Given the description of an element on the screen output the (x, y) to click on. 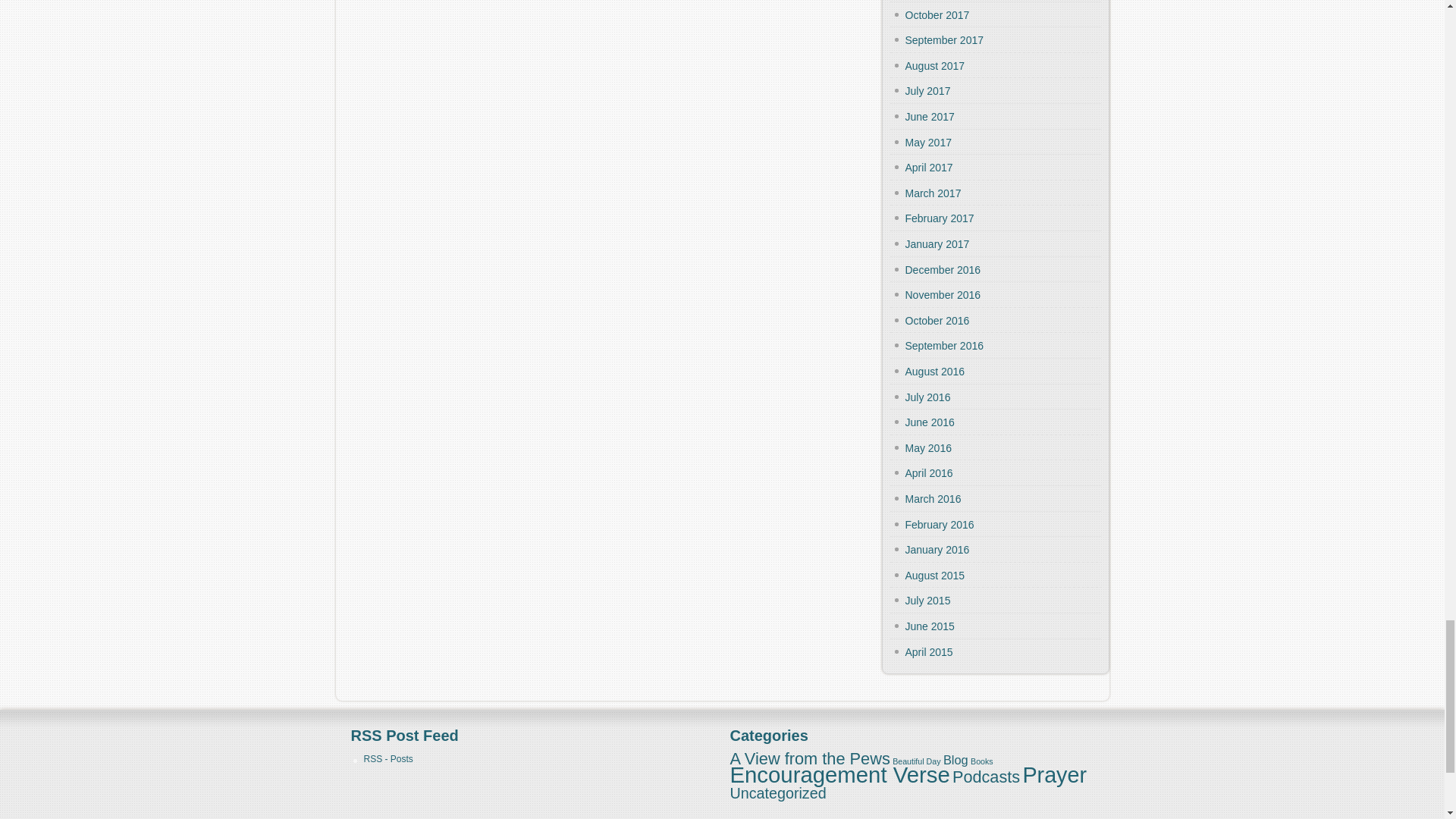
Subscribe to posts (388, 758)
